Given the description of an element on the screen output the (x, y) to click on. 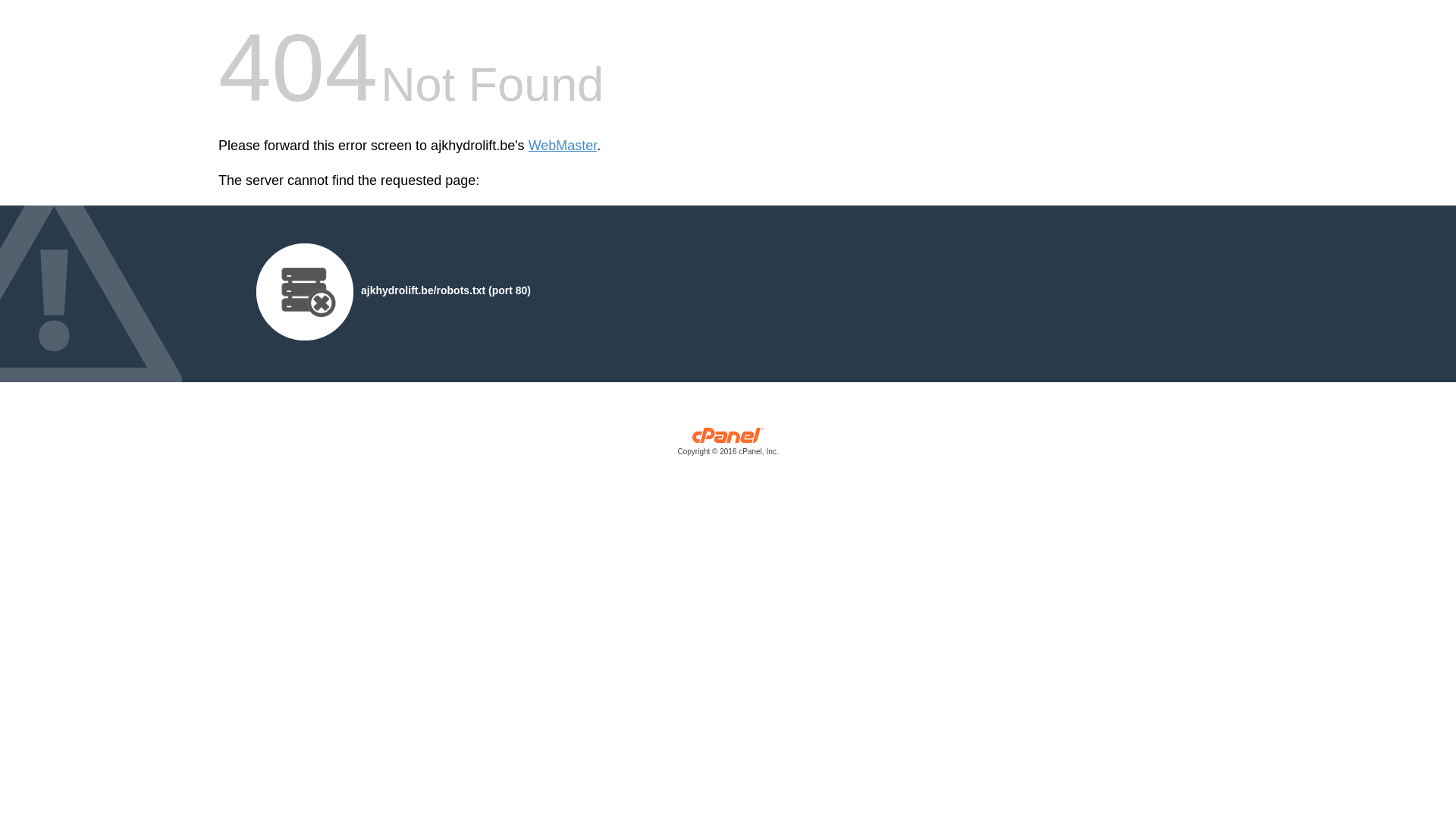
WebMaster Element type: text (562, 145)
